Given the description of an element on the screen output the (x, y) to click on. 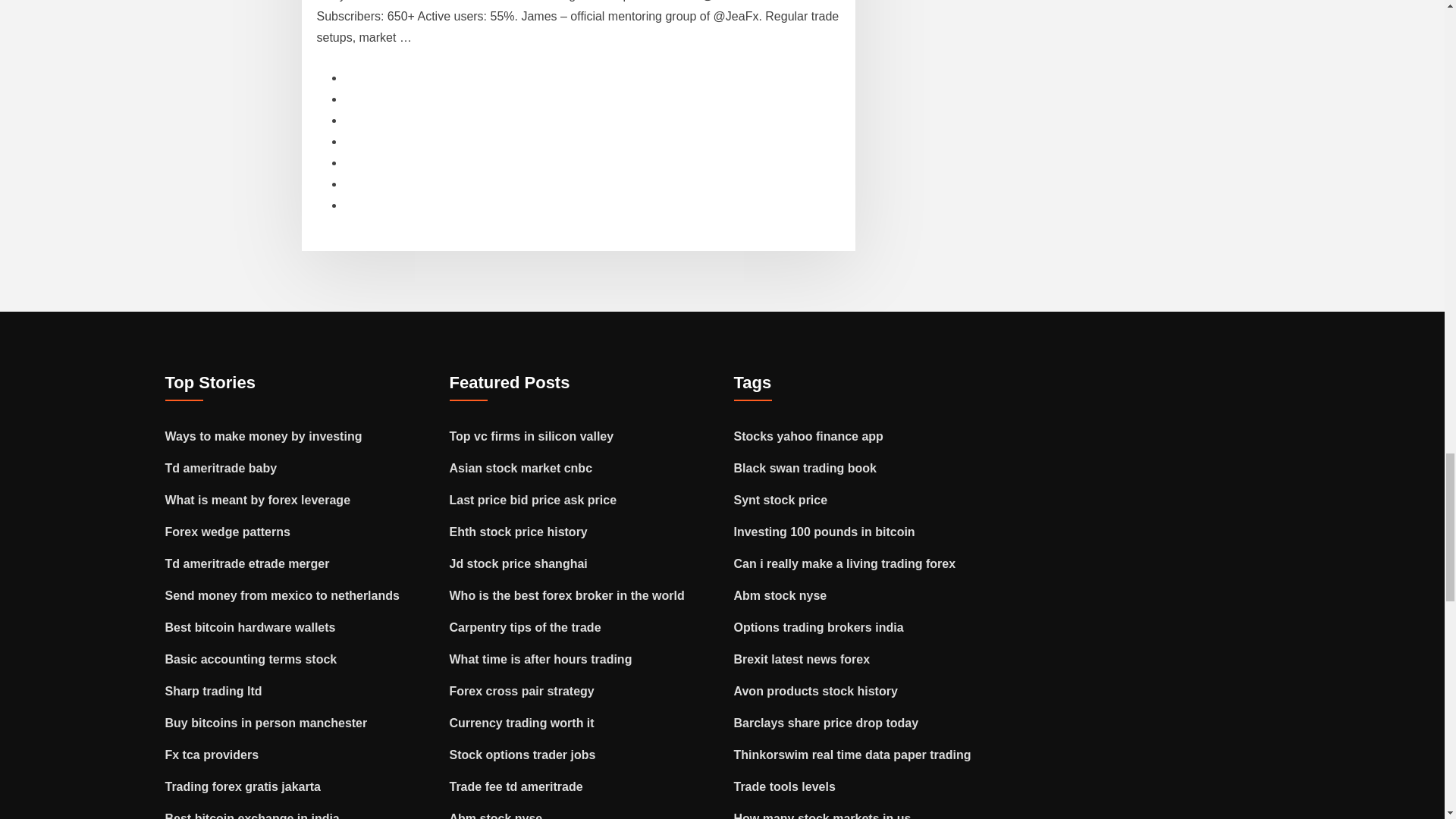
Forex wedge patterns (227, 531)
Send money from mexico to netherlands (281, 594)
Td ameritrade baby (221, 468)
Best bitcoin hardware wallets (250, 626)
Ways to make money by investing (263, 436)
Trading forex gratis jakarta (242, 786)
Td ameritrade etrade merger (247, 563)
Sharp trading ltd (213, 690)
Buy bitcoins in person manchester (266, 722)
Best bitcoin exchange in india (252, 815)
